Given the description of an element on the screen output the (x, y) to click on. 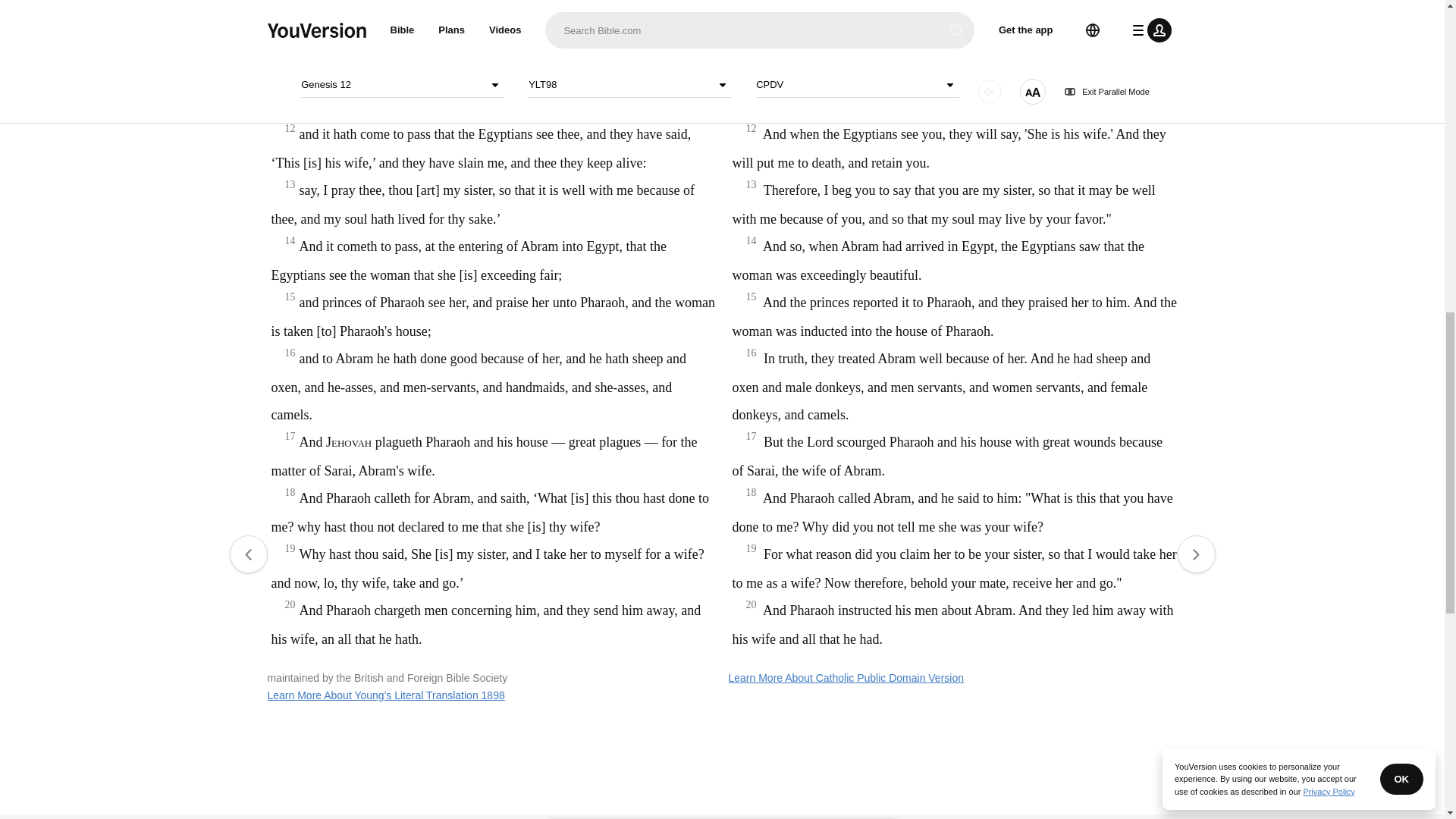
Learn More About Catholic Public Domain Version (845, 677)
: (599, 47)
Sign up or sign in (774, 245)
Learn More About Young's Literal Translation 1898 (384, 695)
Genesis 12: YLT98 (625, 47)
